Given the description of an element on the screen output the (x, y) to click on. 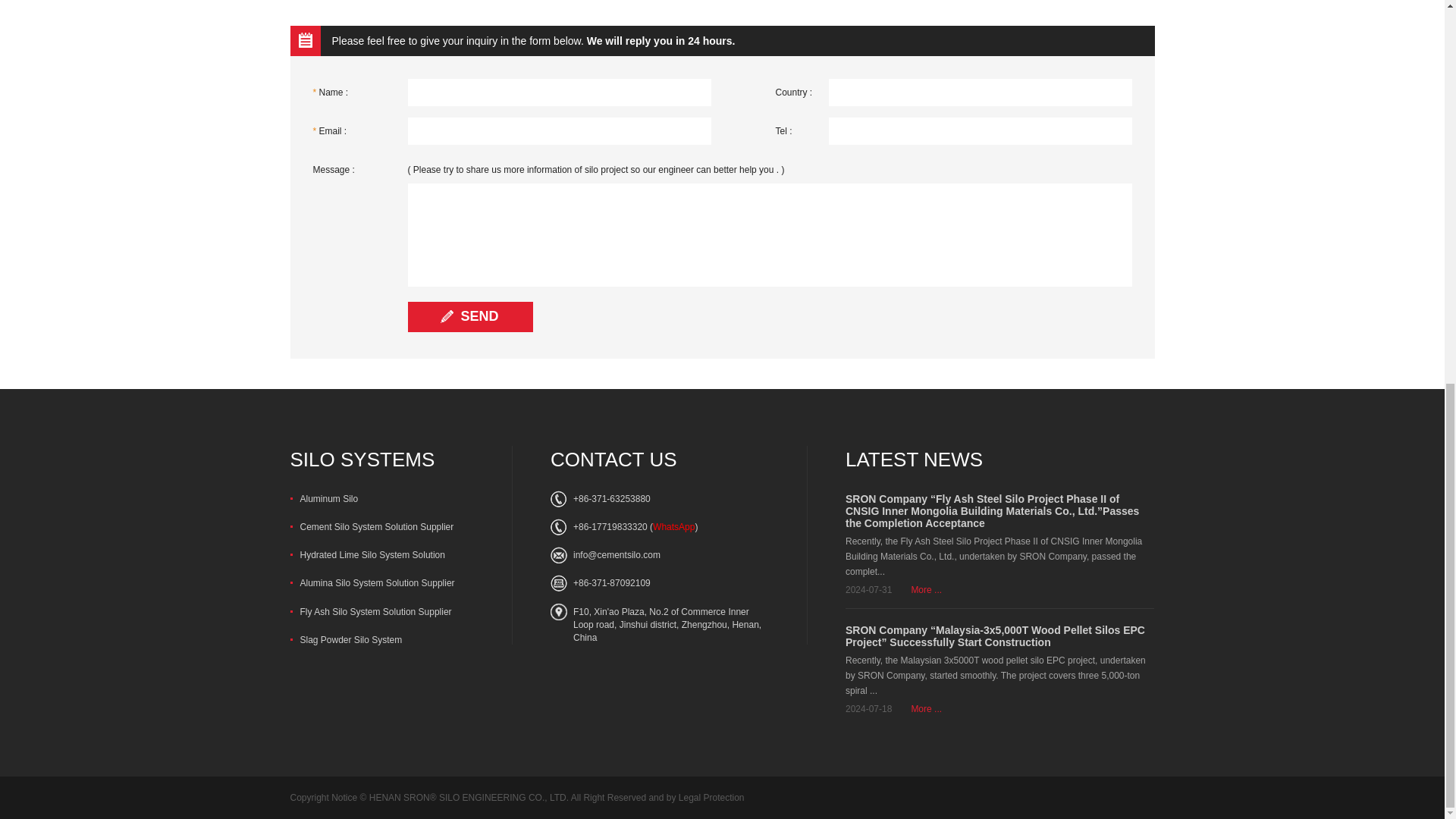
SEND (469, 317)
